Given the description of an element on the screen output the (x, y) to click on. 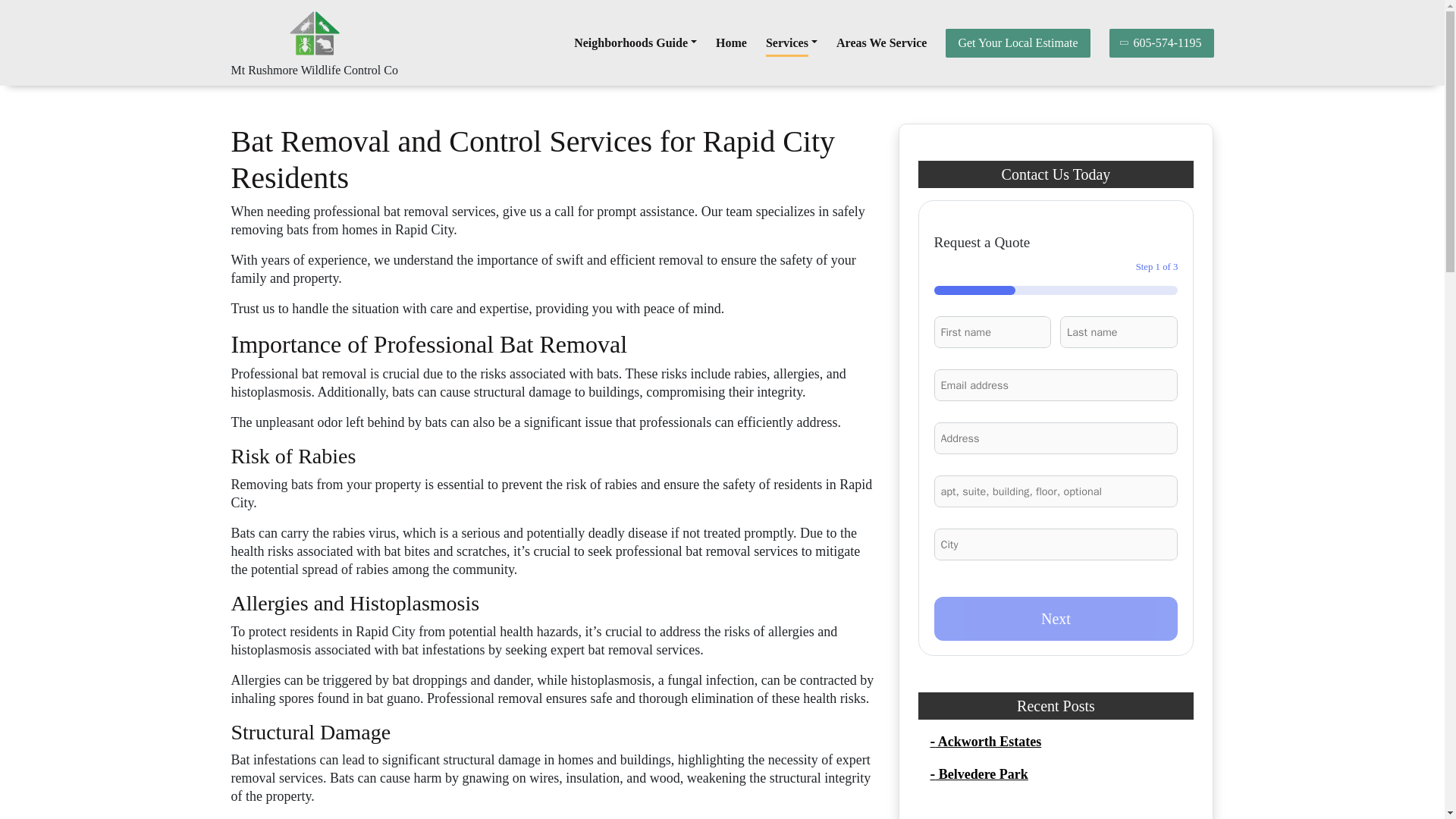
Home (731, 42)
Neighborhoods Guide (635, 42)
Neighborhoods Guide (635, 42)
Next (1055, 618)
Services (790, 42)
Mt Rushmore Wildlife Control Co (313, 69)
605-574-1195 (1161, 42)
Home (731, 42)
Areas We Service (880, 42)
Get Your Local Estimate (1016, 42)
Services (790, 42)
